Given the description of an element on the screen output the (x, y) to click on. 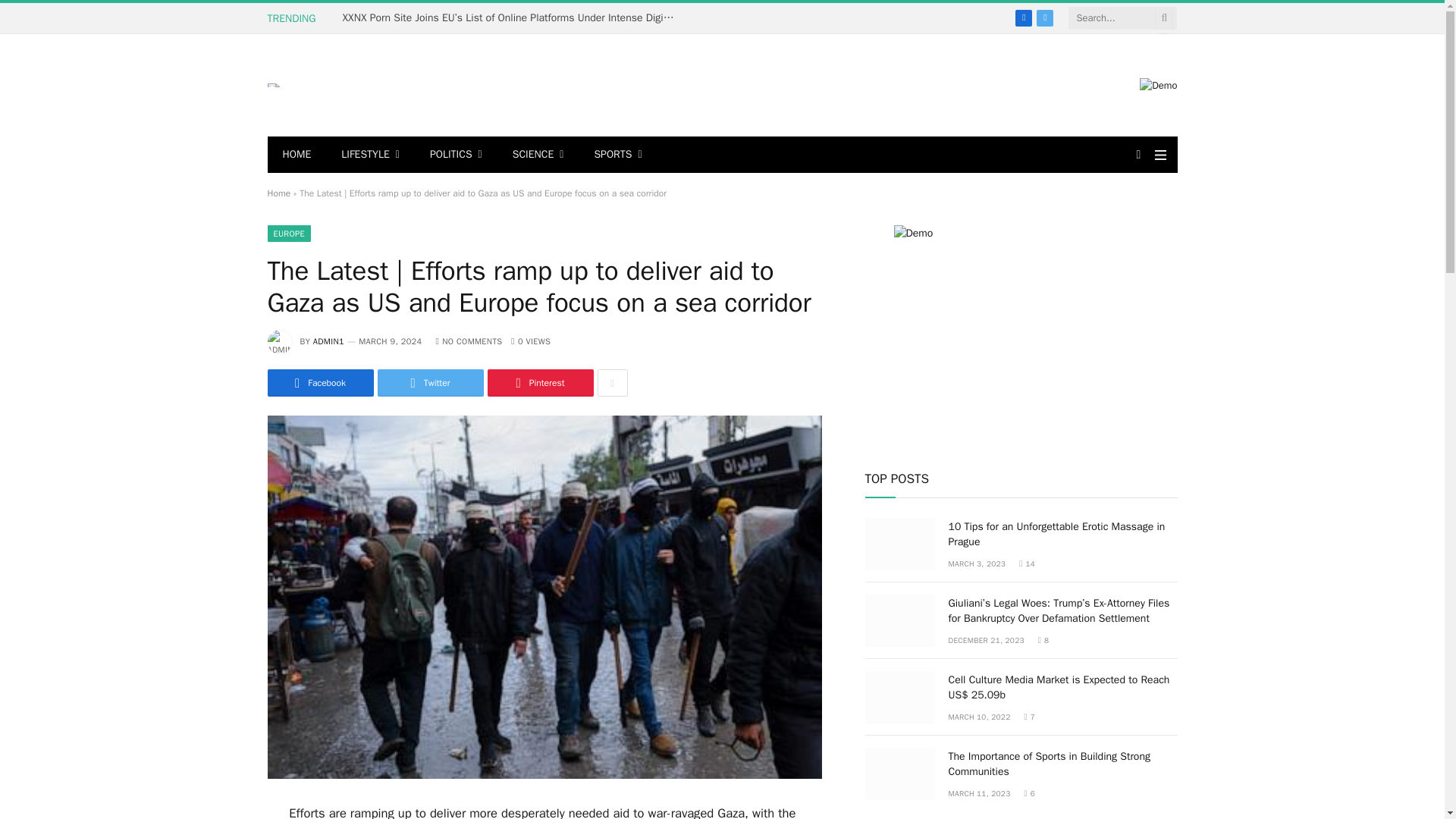
LIFESTYLE (370, 154)
Facebook (1023, 17)
HOME (296, 154)
POLITICS (455, 154)
CoDaily (272, 85)
